Given the description of an element on the screen output the (x, y) to click on. 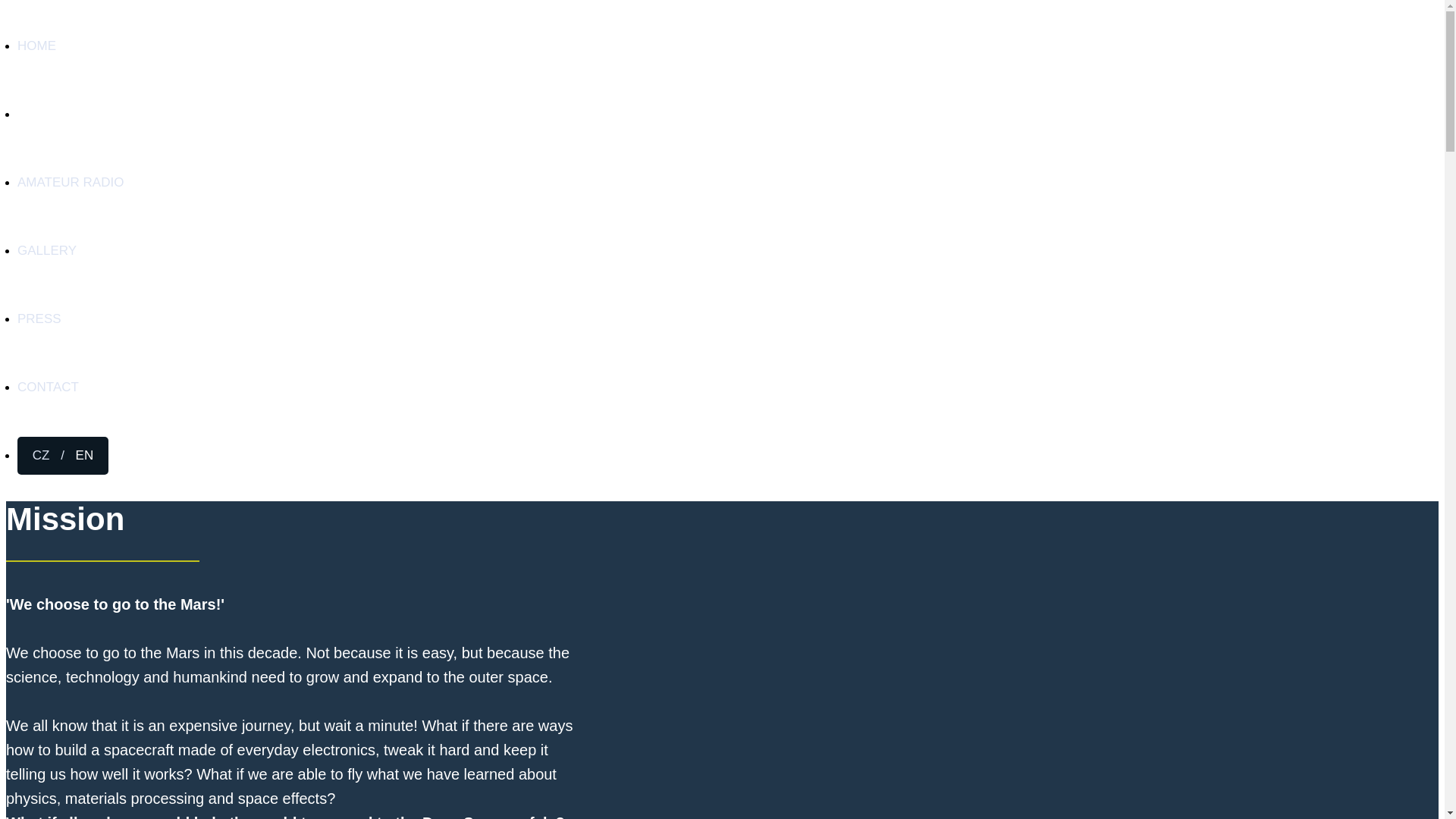
MISSION (44, 114)
PRESS (39, 318)
AMATEUR RADIO (70, 182)
GALLERY (47, 250)
HOME (36, 45)
CZ (42, 454)
CONTACT (47, 386)
EN (84, 454)
